Given the description of an element on the screen output the (x, y) to click on. 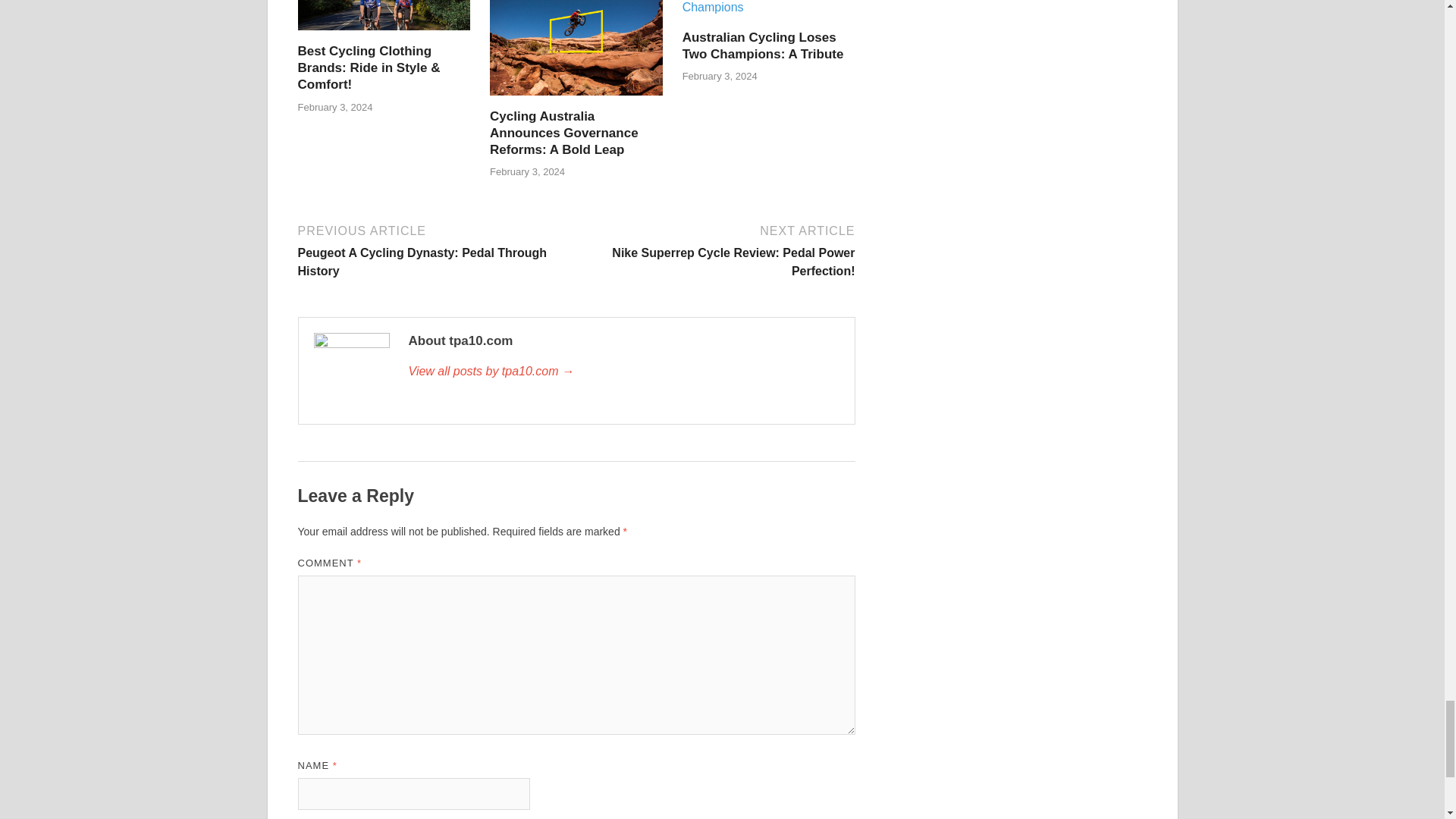
tpa10.com (622, 371)
Cycling Australia Announces Governance Reforms: A Bold Leap (564, 132)
Australian Cycling Loses Two Champions: A Tribute (769, 4)
Australian Cycling Loses Two Champions: A Tribute (763, 45)
Cycling Australia Announces Governance Reforms: A Bold Leap (575, 42)
